Given the description of an element on the screen output the (x, y) to click on. 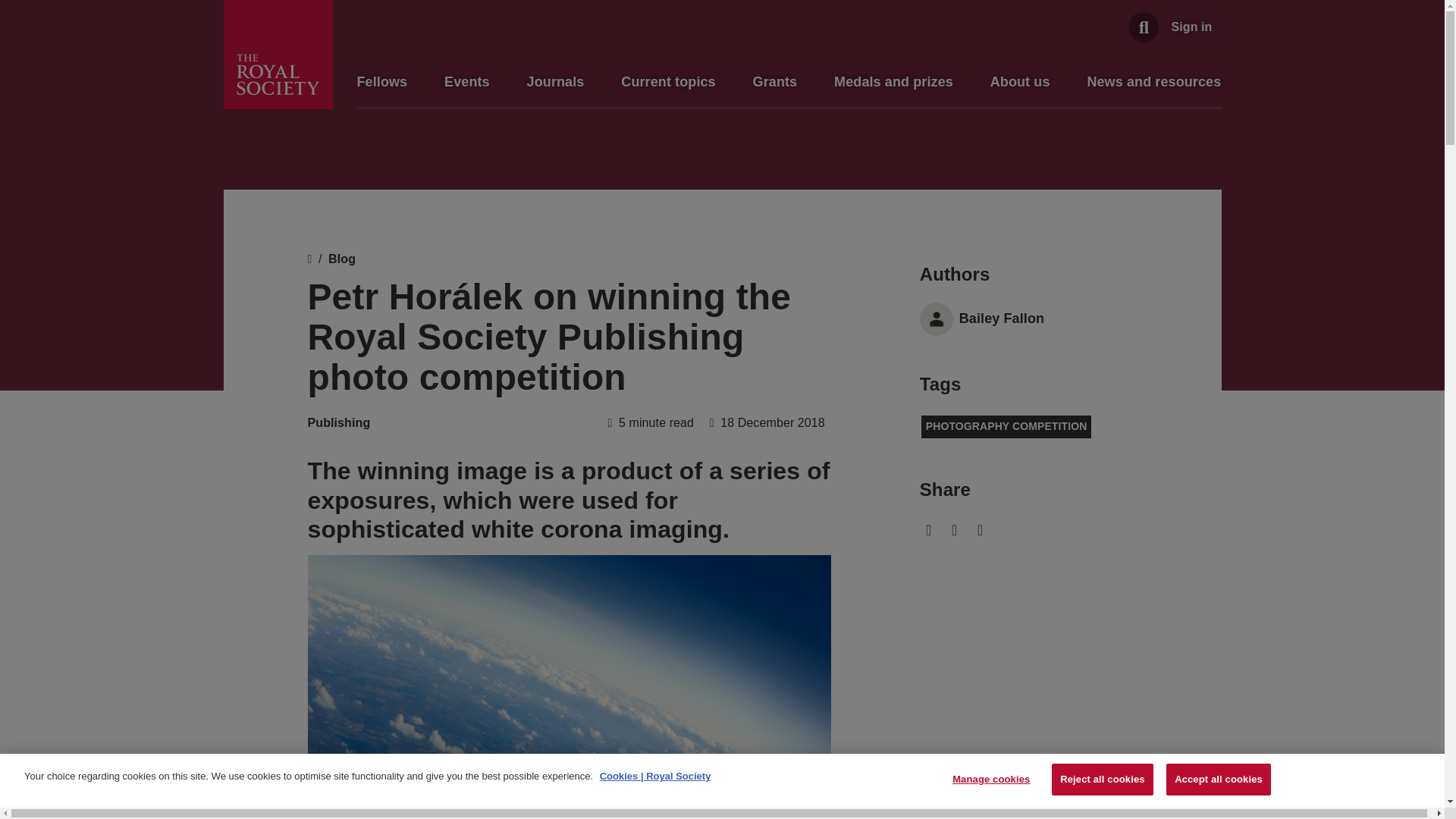
Current topics (667, 81)
Journals (556, 81)
Fellows (381, 81)
